Given the description of an element on the screen output the (x, y) to click on. 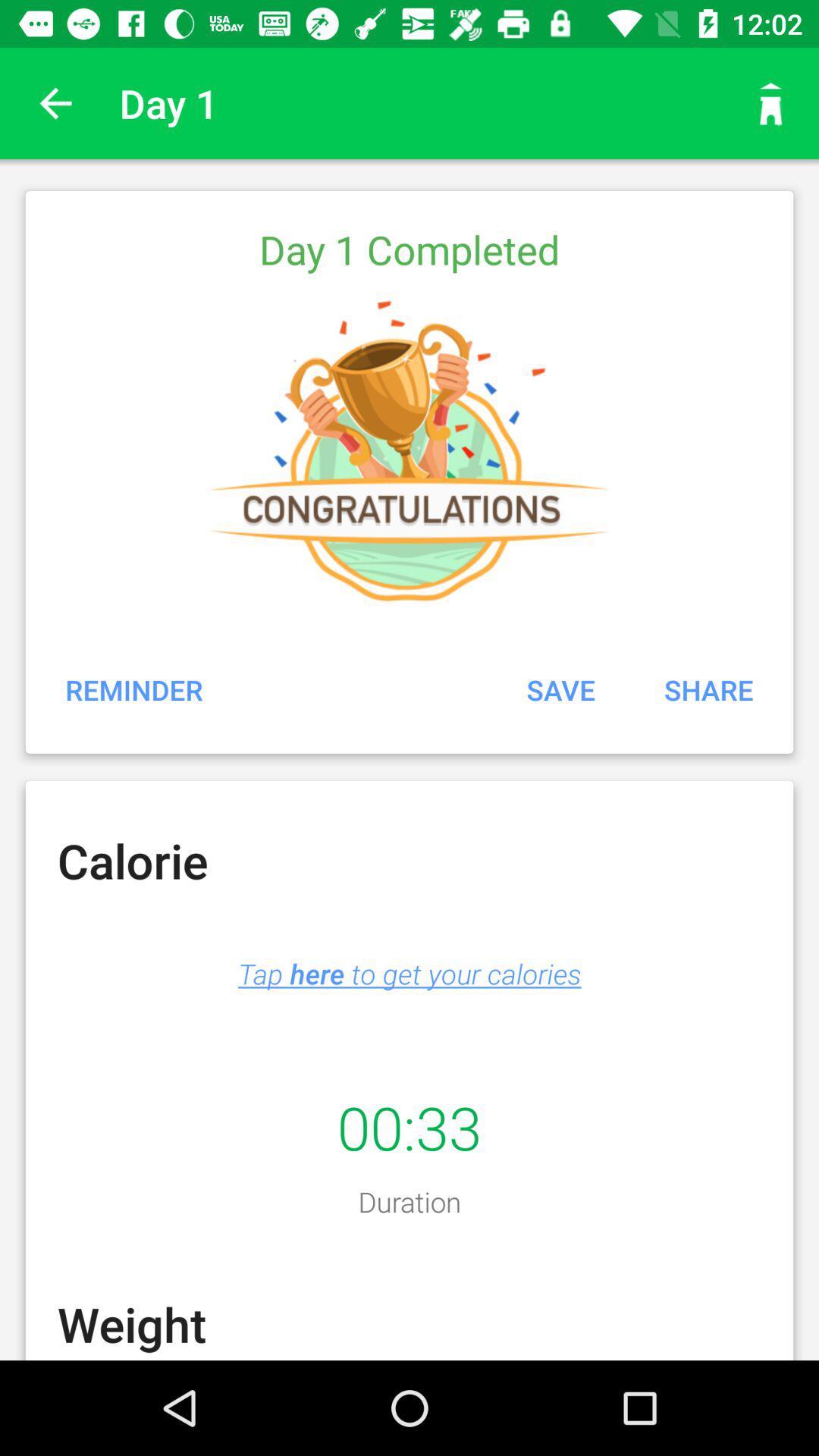
tap share item (708, 689)
